Given the description of an element on the screen output the (x, y) to click on. 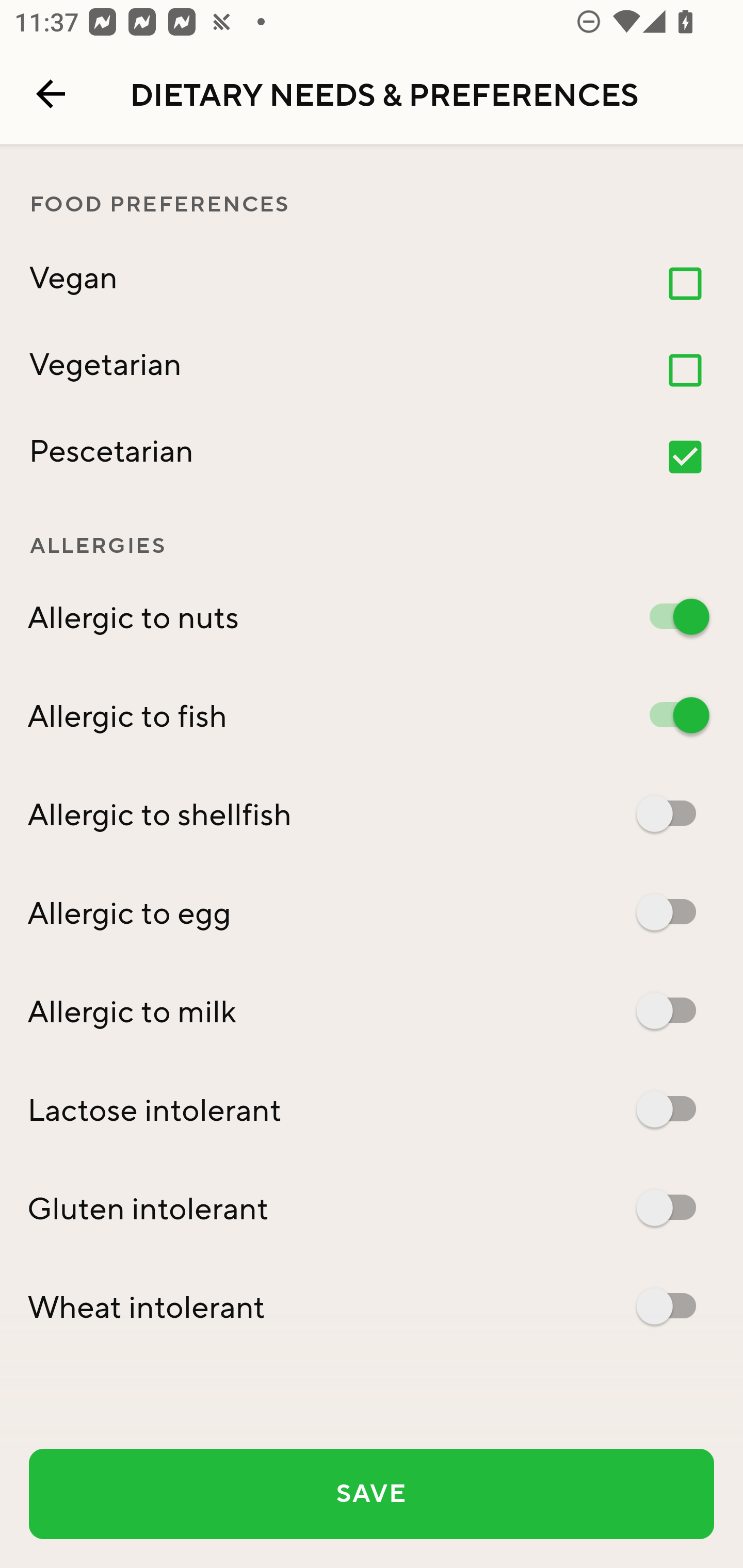
Navigate up (50, 93)
SAVE (371, 1493)
